Given the description of an element on the screen output the (x, y) to click on. 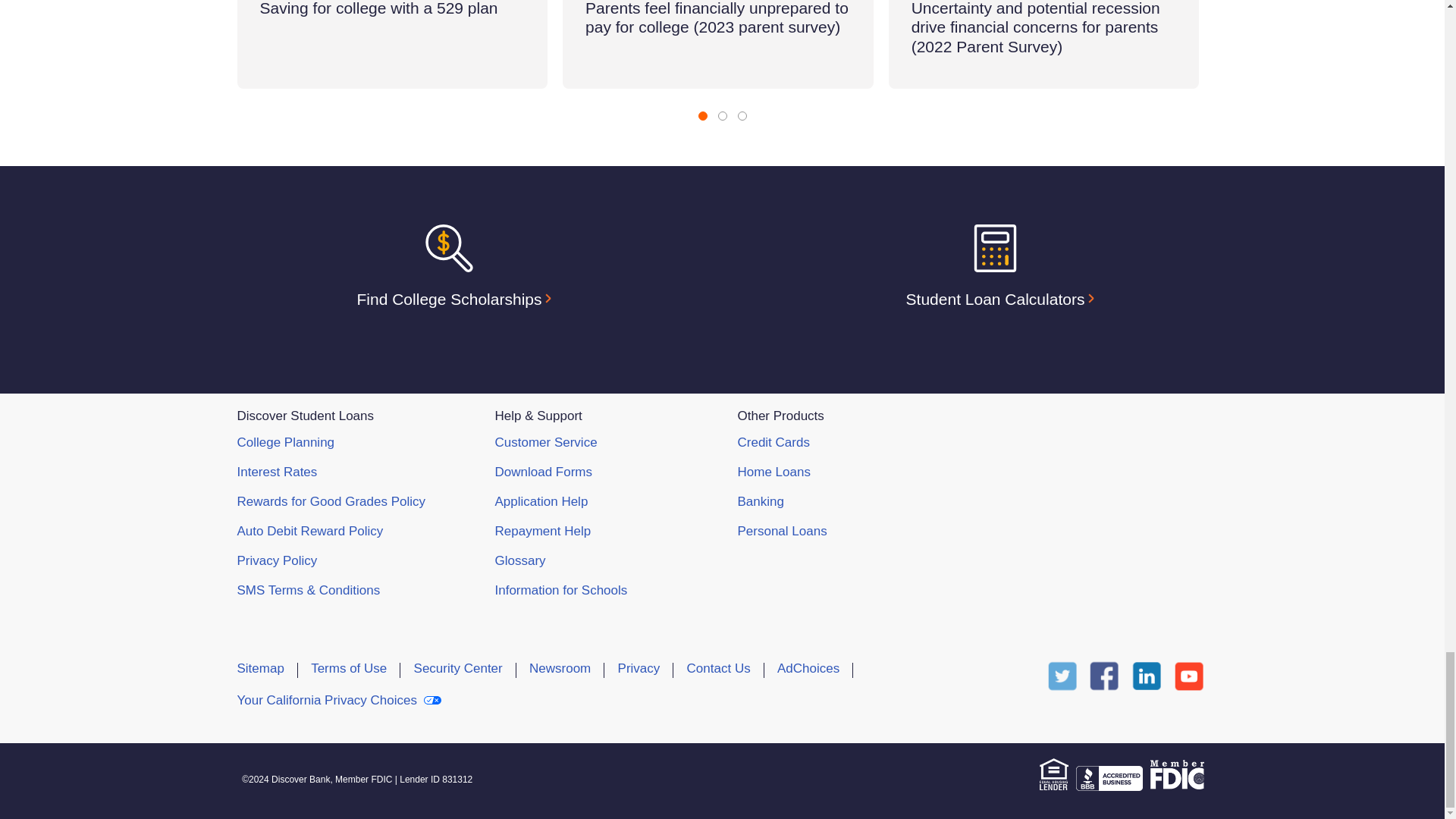
Privacy Policy (276, 560)
College Planning (284, 441)
Interest Rates (276, 472)
Glossary (519, 560)
Auto Debit Reward Policy (308, 531)
Customer Service (545, 441)
Information for Schools (561, 590)
Credit Cards (772, 441)
Repayment Help (543, 531)
Application Help (541, 501)
